Given the description of an element on the screen output the (x, y) to click on. 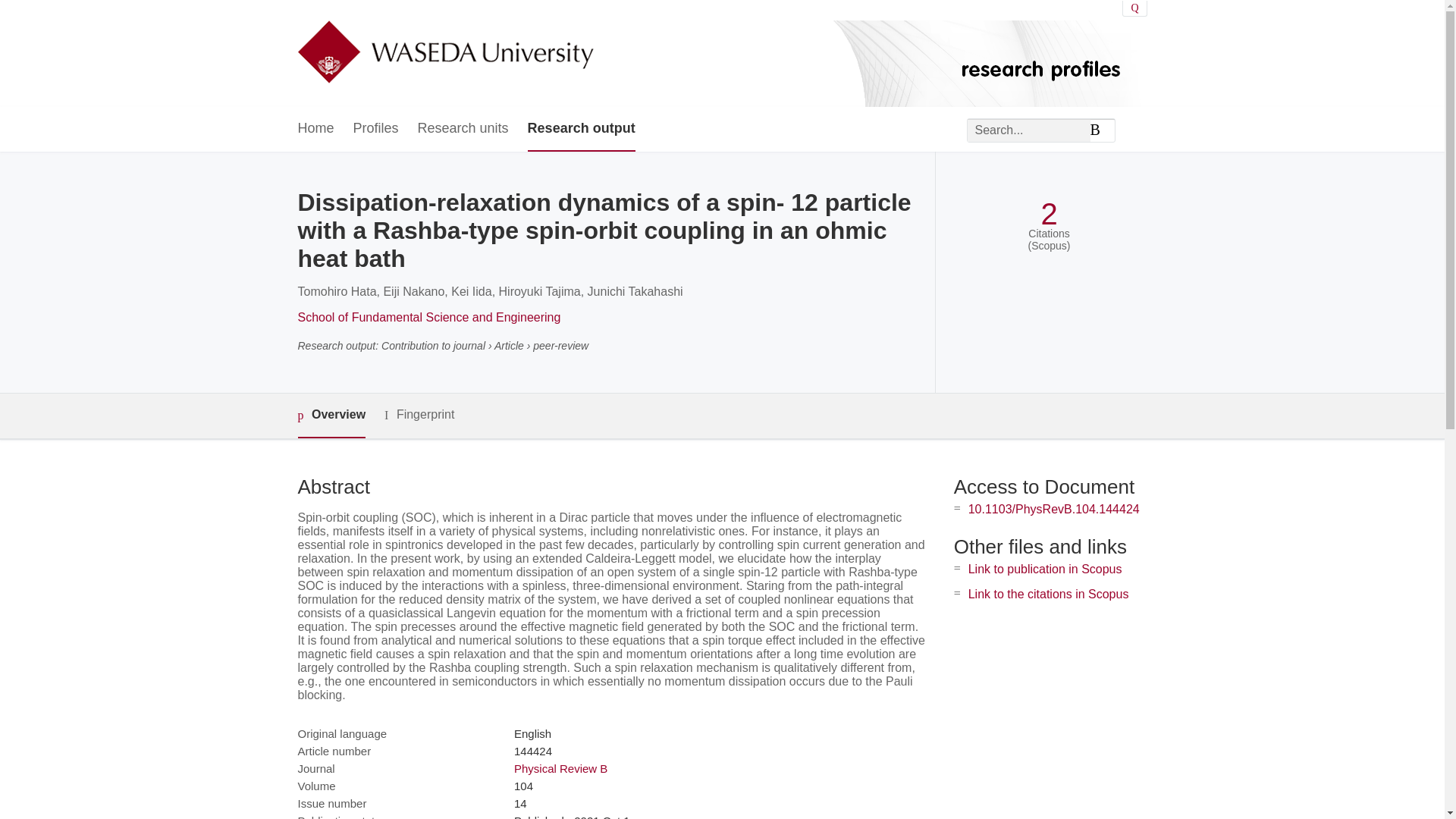
Waseda University Home (444, 53)
Overview (331, 415)
Research units (462, 129)
Link to the citations in Scopus (1048, 594)
School of Fundamental Science and Engineering (428, 317)
Physical Review B (560, 768)
Profiles (375, 129)
Research output (580, 129)
Link to publication in Scopus (1045, 568)
Fingerprint (419, 414)
